Given the description of an element on the screen output the (x, y) to click on. 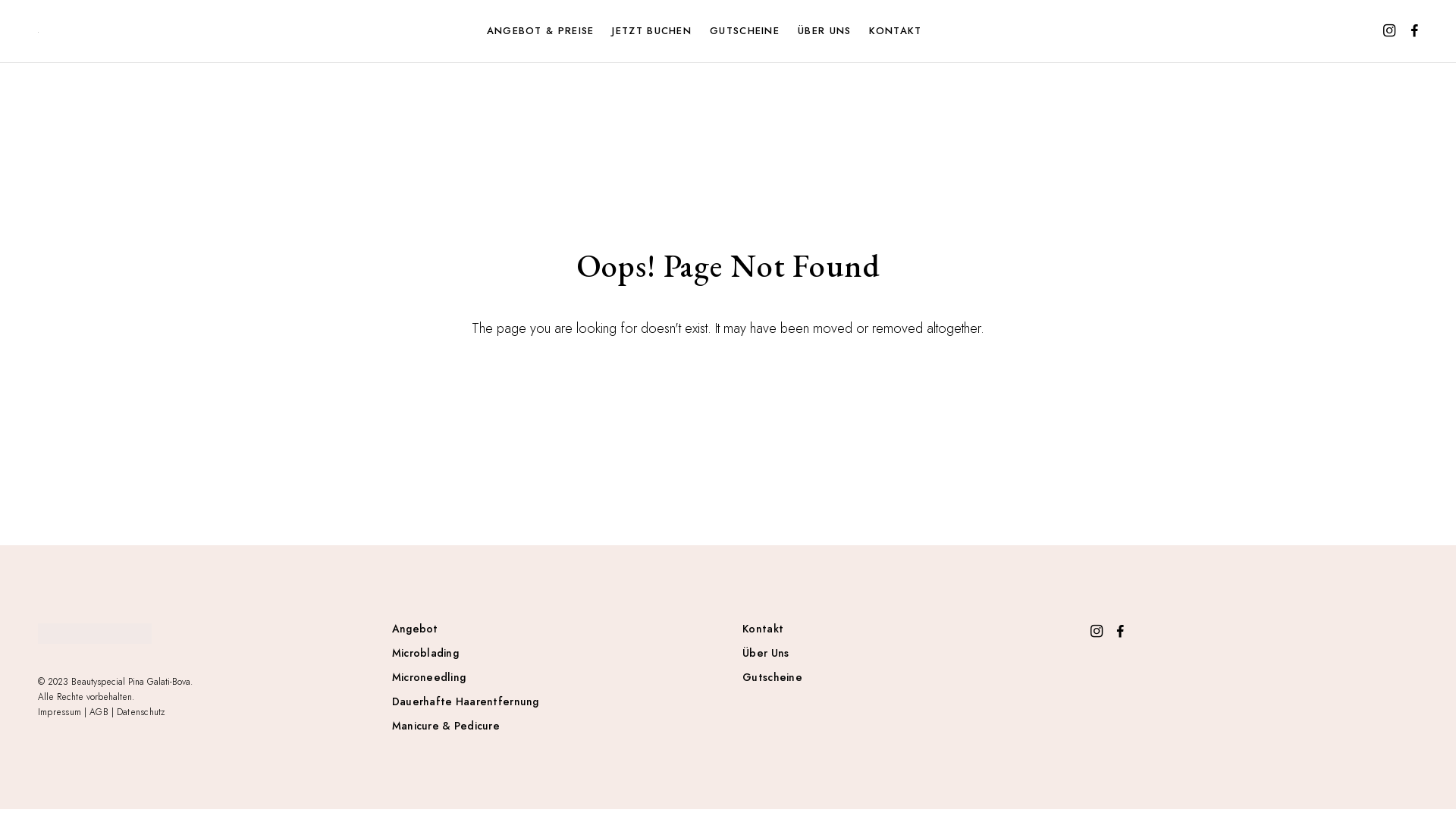
Gutscheine Element type: text (909, 676)
Datenschutz Element type: text (140, 711)
Microneedling Element type: text (559, 676)
Dauerhafte Haarentfernung Element type: text (559, 701)
GUTSCHEINE Element type: text (751, 30)
AGB Element type: text (98, 711)
Impressum Element type: text (59, 711)
JETZT BUCHEN Element type: text (658, 30)
Microblading Element type: text (559, 652)
Angebot Element type: text (559, 628)
Kontakt Element type: text (909, 628)
ANGEBOT & PREISE Element type: text (547, 30)
Manicure & Pedicure Element type: text (559, 725)
KONTAKT Element type: text (901, 30)
